Given the description of an element on the screen output the (x, y) to click on. 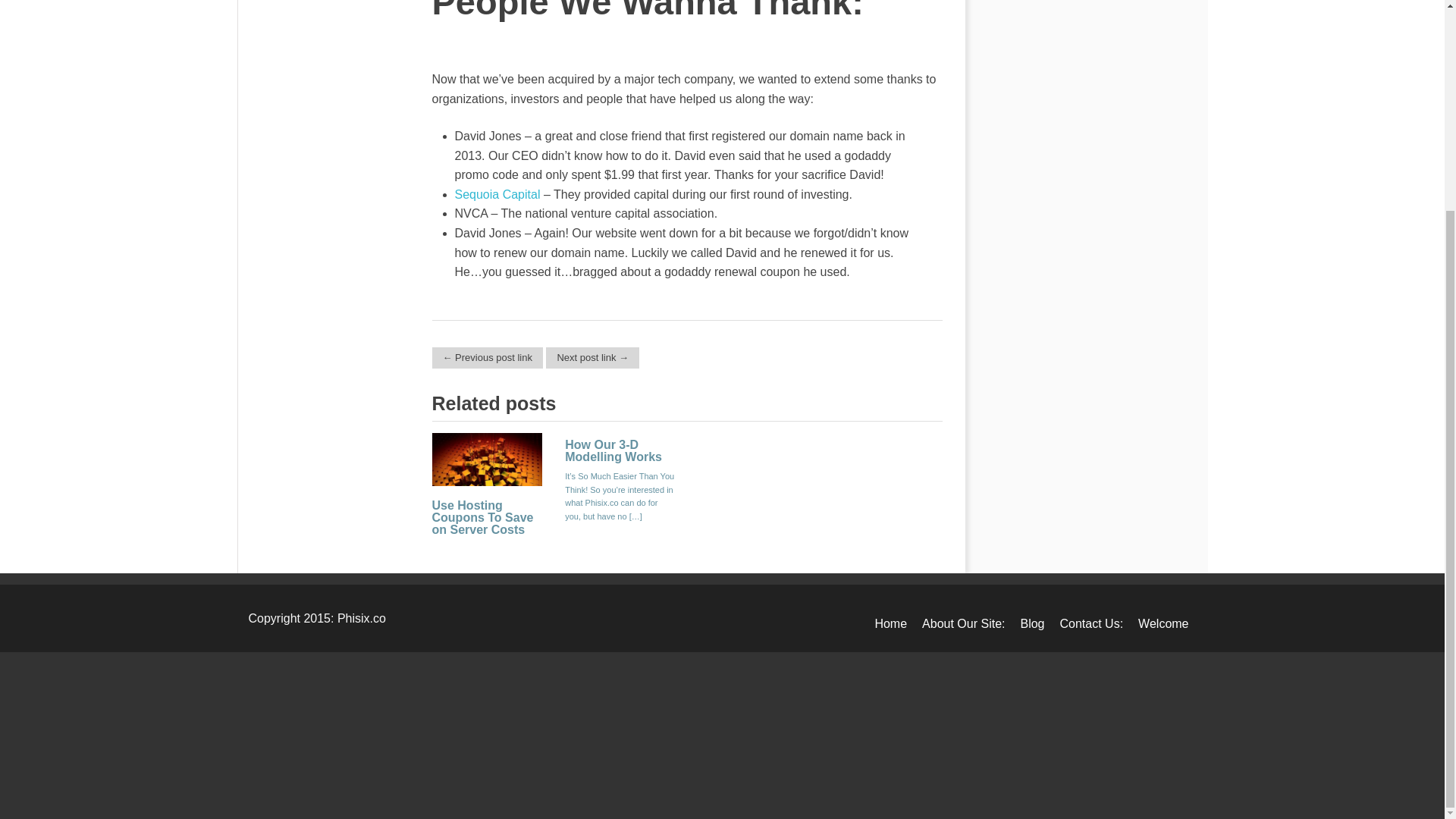
Go to: Legacy of Phisix.co (487, 357)
Use Hosting Coupons To Save on Server Costs (483, 517)
Permalink to Use Hosting Coupons To Save on Server Costs (487, 492)
How Our 3-D Modelling Works (613, 450)
About Our Site: (962, 623)
Contact Us: (1091, 623)
Blog (1031, 623)
Sequoia Capital (497, 194)
Welcome (1163, 623)
Home (891, 623)
